Given the description of an element on the screen output the (x, y) to click on. 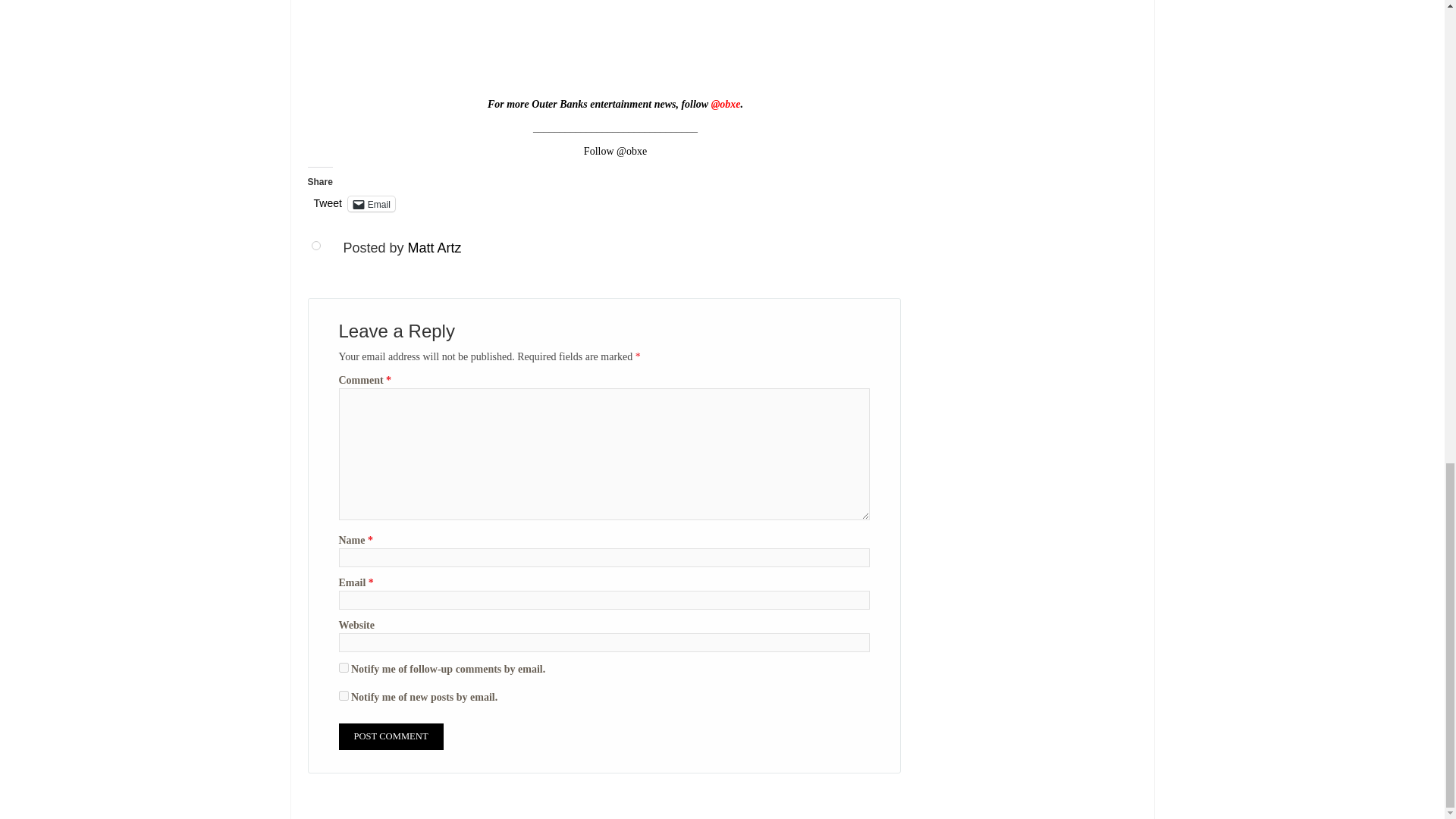
View all posts by Matt Artz (434, 247)
subscribe (342, 696)
Post Comment (389, 736)
Email (370, 203)
Post Comment (389, 736)
Matt Artz (434, 247)
Tweet (328, 202)
Click to email a link to a friend (370, 203)
subscribe (342, 667)
